Given the description of an element on the screen output the (x, y) to click on. 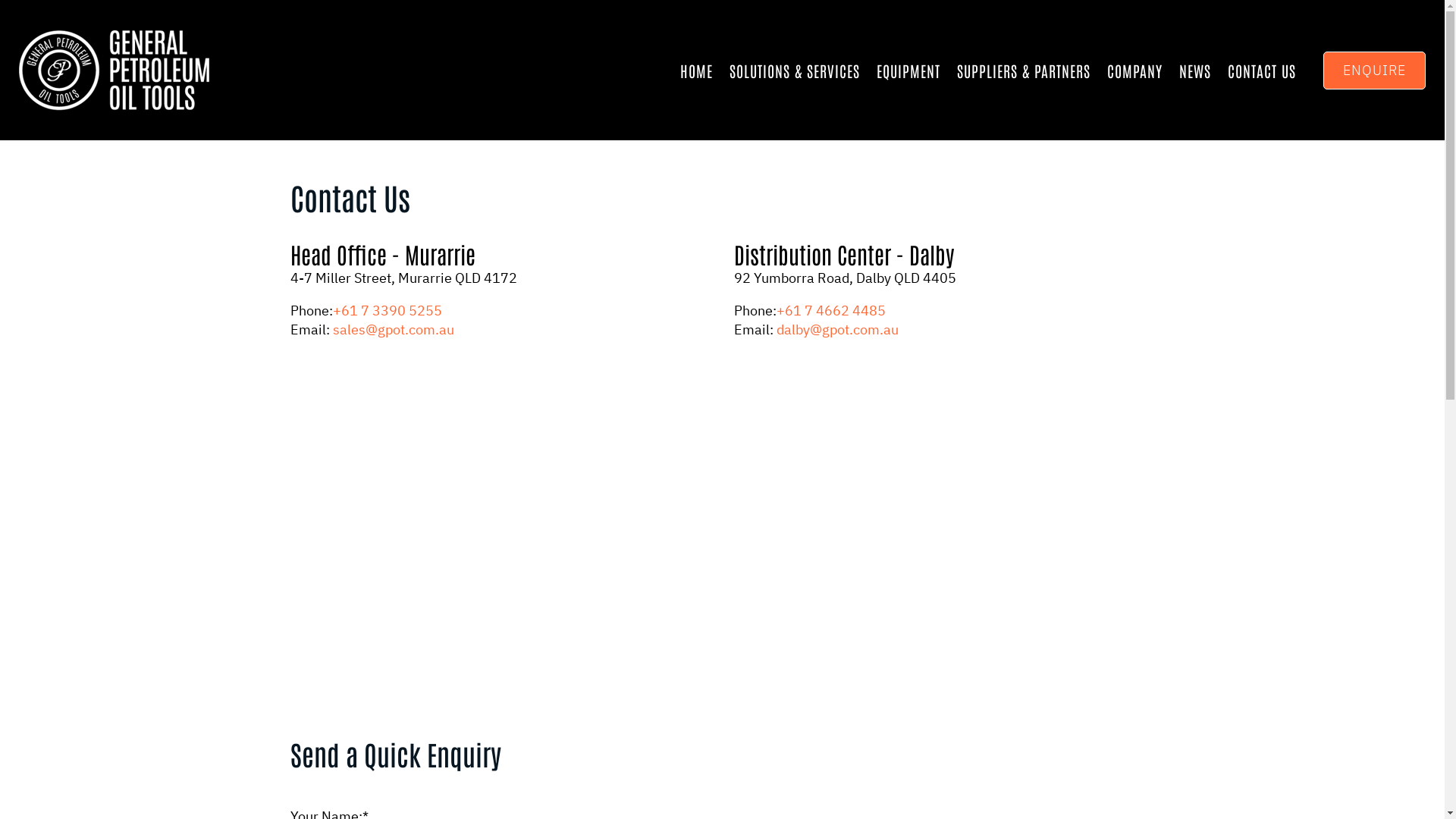
+61 7 4662 4485 Element type: text (830, 310)
+61 7 3390 5255 Element type: text (386, 310)
HOME Element type: text (696, 70)
EQUIPMENT Element type: text (908, 70)
General Petroleum Oil Tools Element type: hover (113, 70)
NEWS Element type: text (1194, 70)
SOLUTIONS & SERVICES Element type: text (794, 70)
COMPANY Element type: text (1134, 70)
ENQUIRE Element type: text (1374, 70)
dalby@gpot.com.au Element type: text (837, 329)
sales@gpot.com.au Element type: text (392, 329)
SUPPLIERS & PARTNERS Element type: text (1023, 70)
CONTACT US Element type: text (1261, 70)
